Given the description of an element on the screen output the (x, y) to click on. 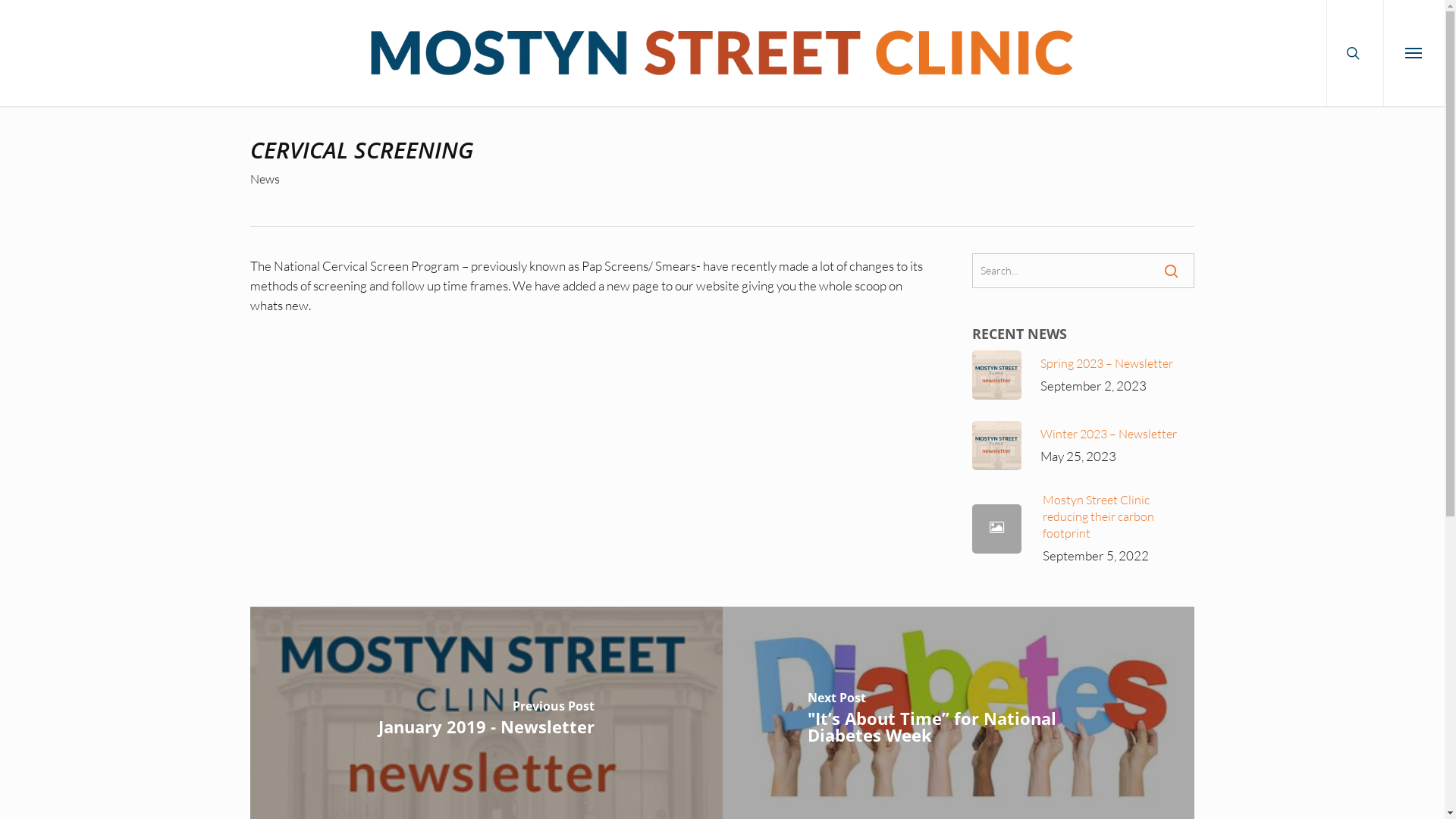
Search for: Element type: hover (1083, 270)
Menu Element type: text (1413, 53)
search Element type: text (1354, 53)
Menu Element type: text (1415, 7)
News Element type: text (264, 178)
